Given the description of an element on the screen output the (x, y) to click on. 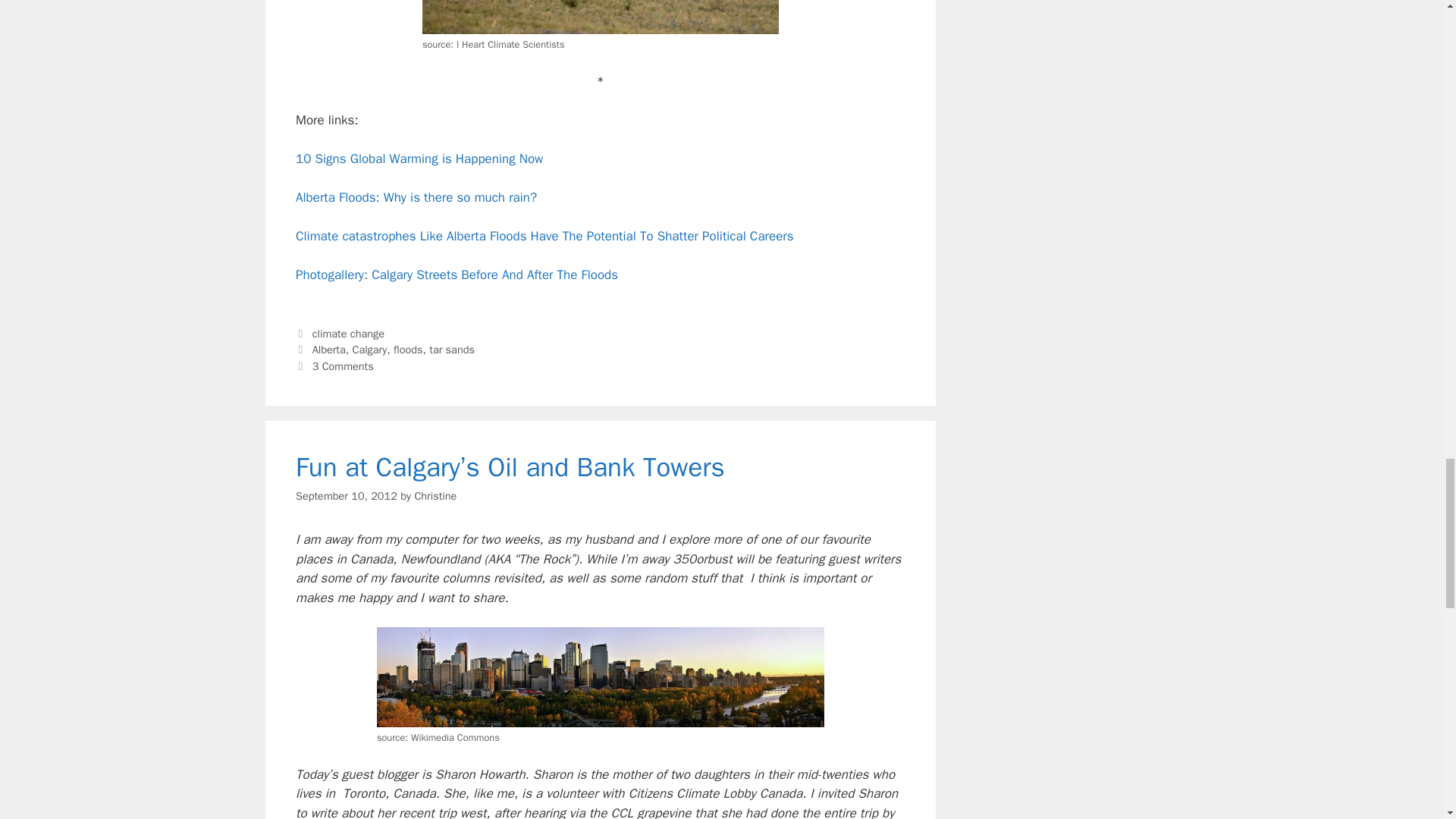
Christine (435, 495)
3 Comments (343, 366)
Alberta (329, 349)
Calgary (369, 349)
floods (408, 349)
View all posts by Christine (435, 495)
10 Signs Global Warming is Happening Now (419, 158)
climate change (348, 333)
tar sands (451, 349)
Alberta Floods: Why is there so much rain? (416, 197)
Photogallery: Calgary Streets Before And After The Floods (456, 274)
